Given the description of an element on the screen output the (x, y) to click on. 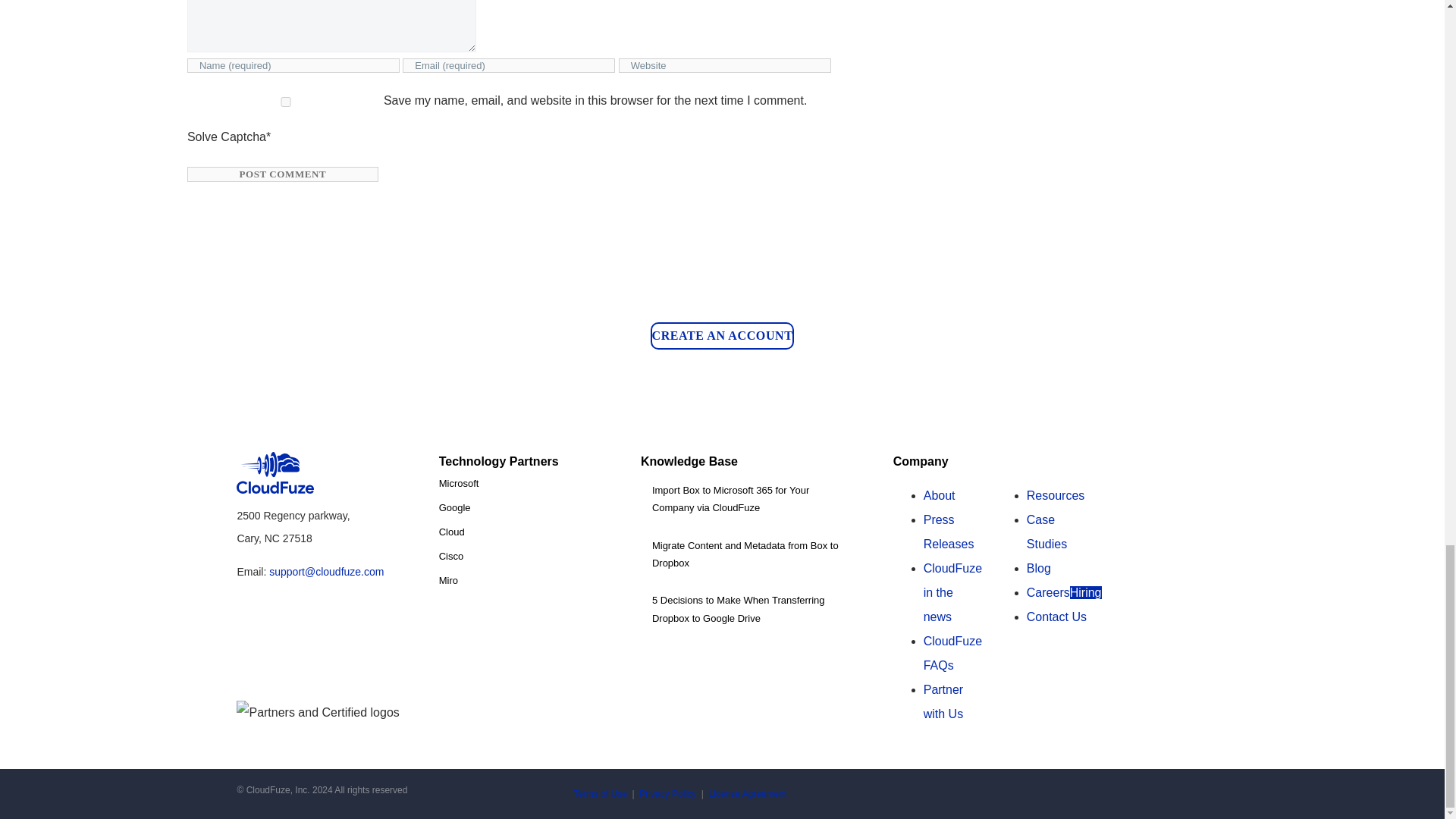
yes (285, 102)
Post Comment (282, 174)
